Given the description of an element on the screen output the (x, y) to click on. 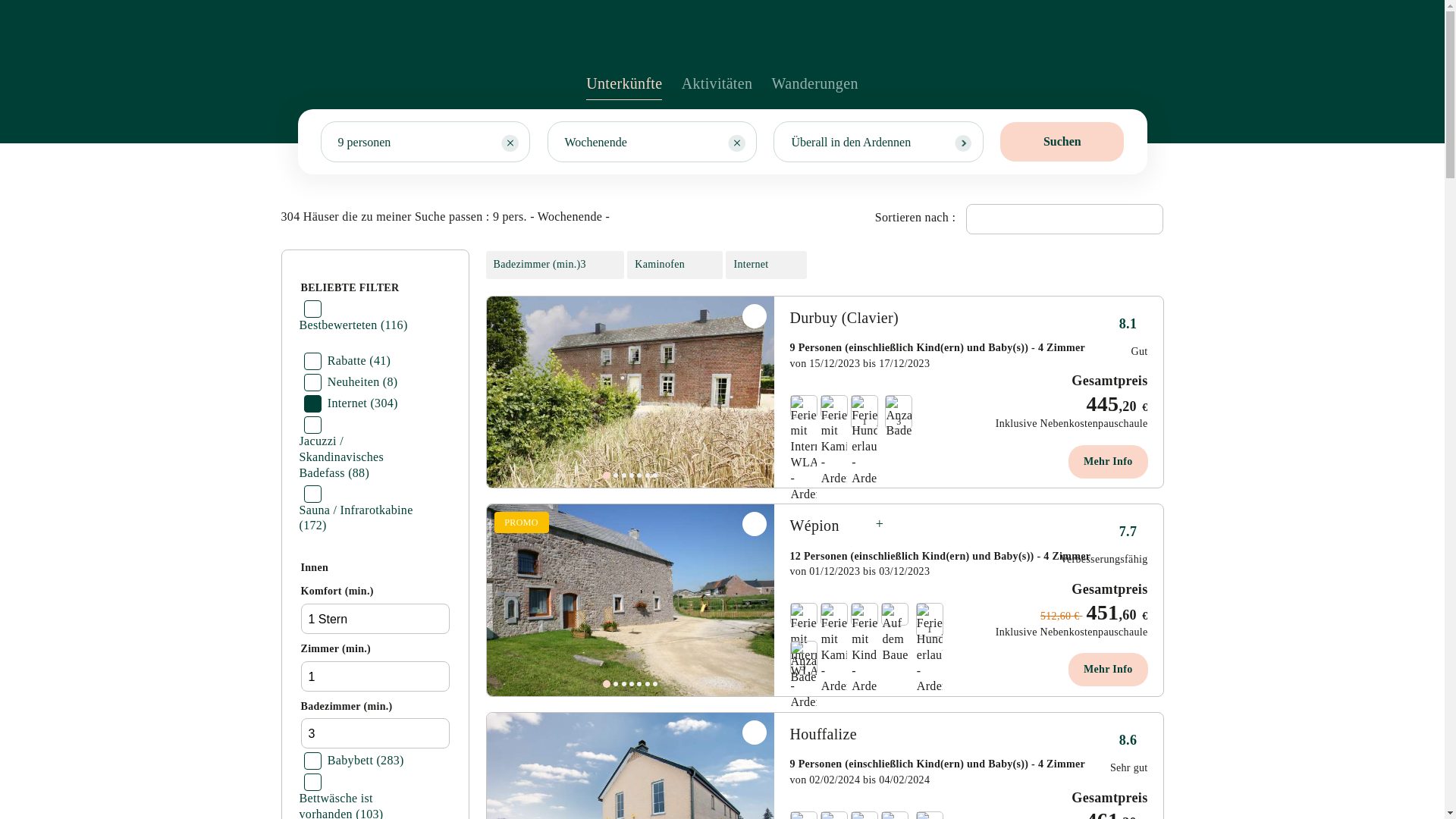
Mehr Info Element type: hover (1060, 588)
Internet (304) Element type: text (351, 403)
von 01/12/2023 bis 03/12/2023 Element type: text (860, 571)
0 1 2 3 4 5 6 Element type: text (630, 392)
Wanderungen Element type: text (814, 87)
Neuheiten (8) Element type: text (357, 382)
Bestbewerteten (116) Element type: text (344, 333)
Ferienhaus mit Kaminofen - Ardennen Element type: hover (834, 648)
Suchen Element type: text (1061, 141)
Anzahl Badezimmer Element type: hover (802, 663)
Mehr Info Element type: hover (1060, 379)
9 personen Element type: text (425, 141)
Wochenende Element type: text (652, 141)
Durbuy (Clavier) Element type: text (844, 317)
Mehr Info Element type: text (1107, 669)
Anzahl Badezimmer Element type: hover (898, 417)
1
3 Element type: text (868, 628)
Sauna / Infrarotkabine (172) Element type: text (344, 518)
Mehr Info Element type: hover (1060, 796)
Kaminofen Element type: text (674, 265)
8.6
Sehr gut Element type: text (1128, 753)
Mehr Info Element type: text (1107, 461)
Babybett (283) Element type: text (354, 760)
Internet Element type: text (765, 265)
Badezimmer (min.)3 Element type: text (554, 265)
von 02/02/2024 bis 04/02/2024 Element type: text (860, 779)
0 1 2 3 4 5 6 Element type: text (630, 600)
von 15/12/2023 bis 17/12/2023 Element type: text (860, 363)
Ferienhaus mit Kaminofen - Ardennen Element type: hover (834, 440)
8.1
Gut Element type: text (1128, 337)
Jacuzzi / Skandinavisches Badefass (88) Element type: text (344, 456)
Auf dem Bauernhof Element type: hover (894, 632)
1
3 Element type: text (881, 401)
Rabatte (41) Element type: text (347, 361)
Houffalize Element type: text (823, 733)
